Given the description of an element on the screen output the (x, y) to click on. 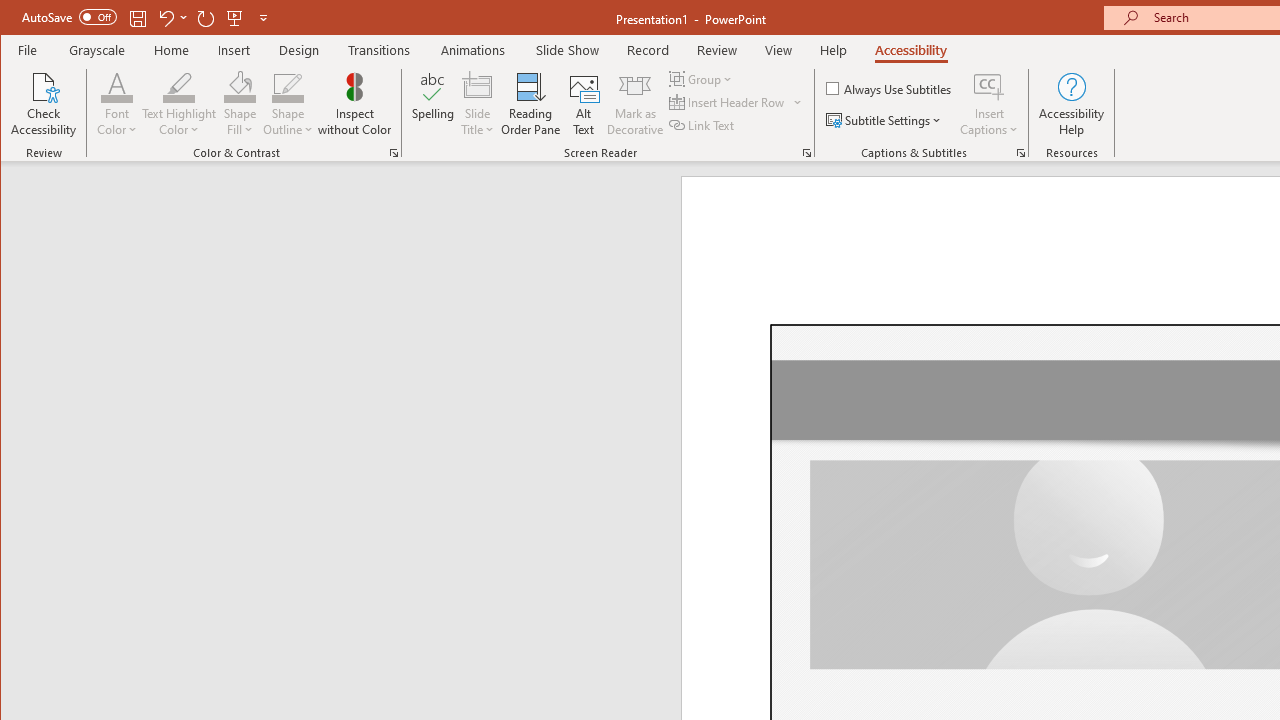
Subtitle Settings (885, 119)
Grayscale (97, 50)
Inspect without Color (355, 104)
Accessibility Help (1071, 104)
Slide Title (477, 86)
Mark as Decorative (635, 104)
Insert Header Row (728, 101)
Shape Outline (288, 104)
